Given the description of an element on the screen output the (x, y) to click on. 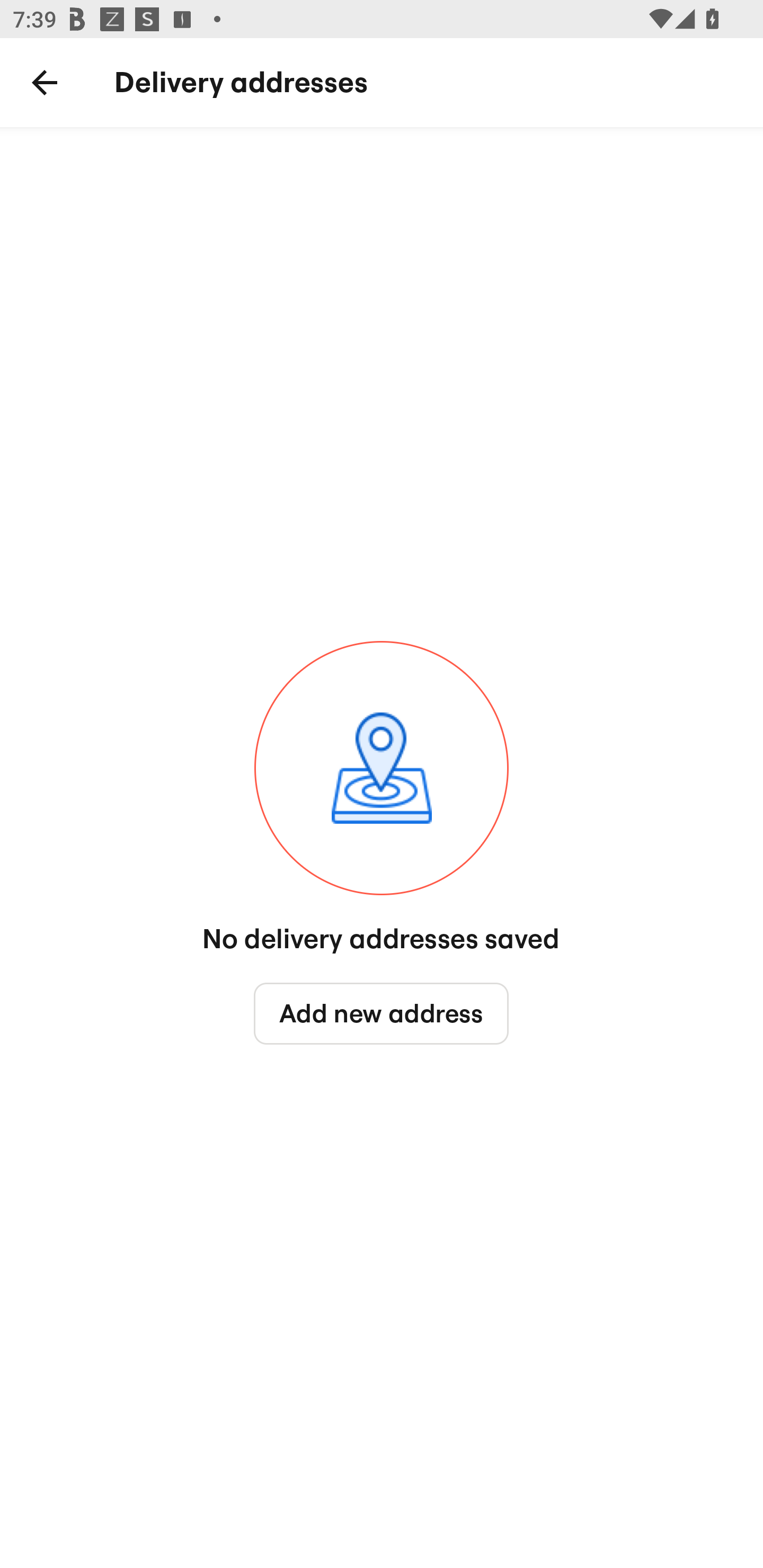
Back (44, 82)
Add new address (381, 1013)
